Given the description of an element on the screen output the (x, y) to click on. 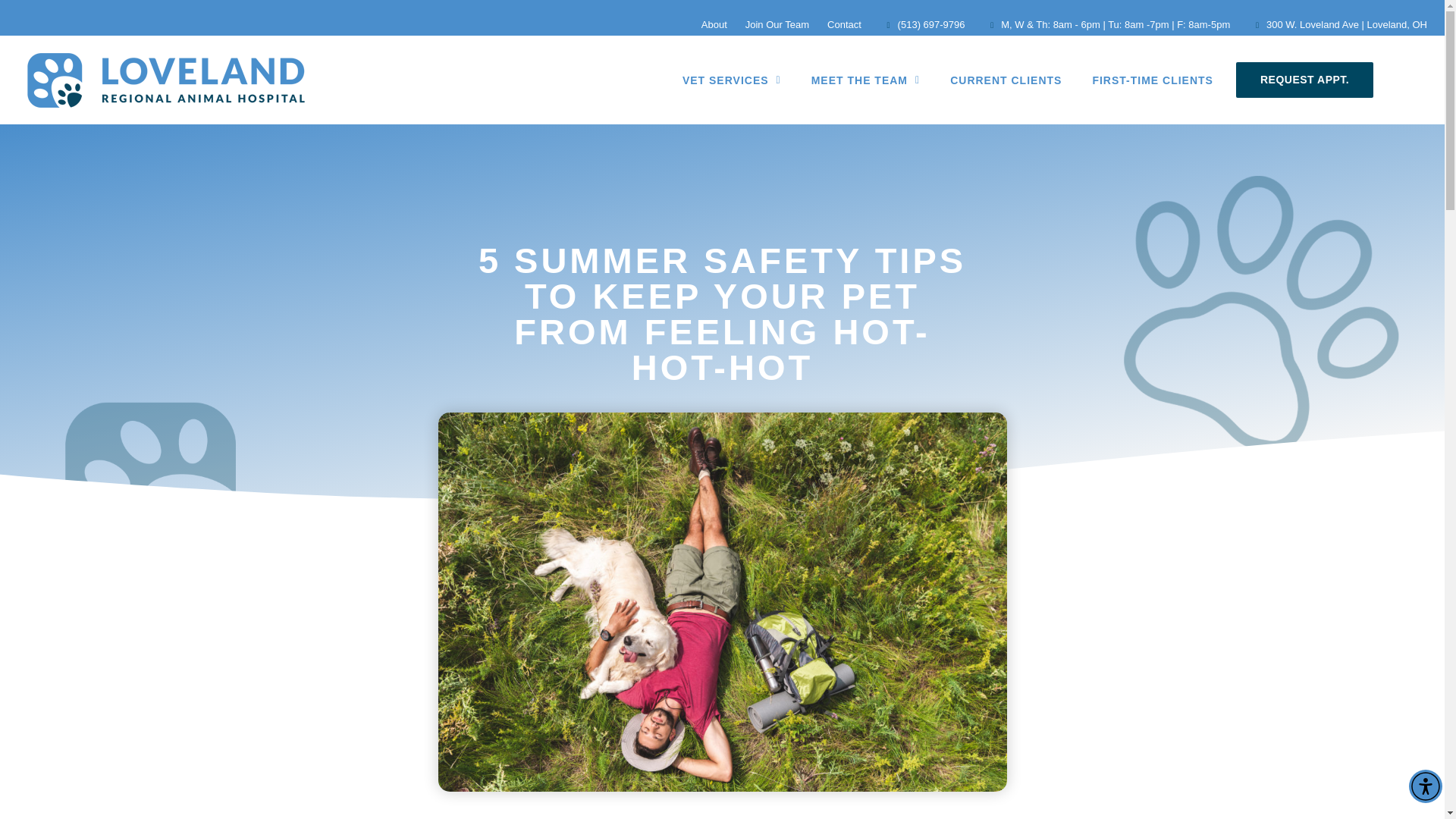
FIRST-TIME CLIENTS (1152, 80)
REQUEST APPT. (1304, 79)
Accessibility Menu (1425, 786)
MEET THE TEAM (865, 80)
Contact (844, 24)
Join Our Team (777, 24)
CURRENT CLIENTS (1005, 80)
About (713, 24)
VET SERVICES (731, 80)
